Given the description of an element on the screen output the (x, y) to click on. 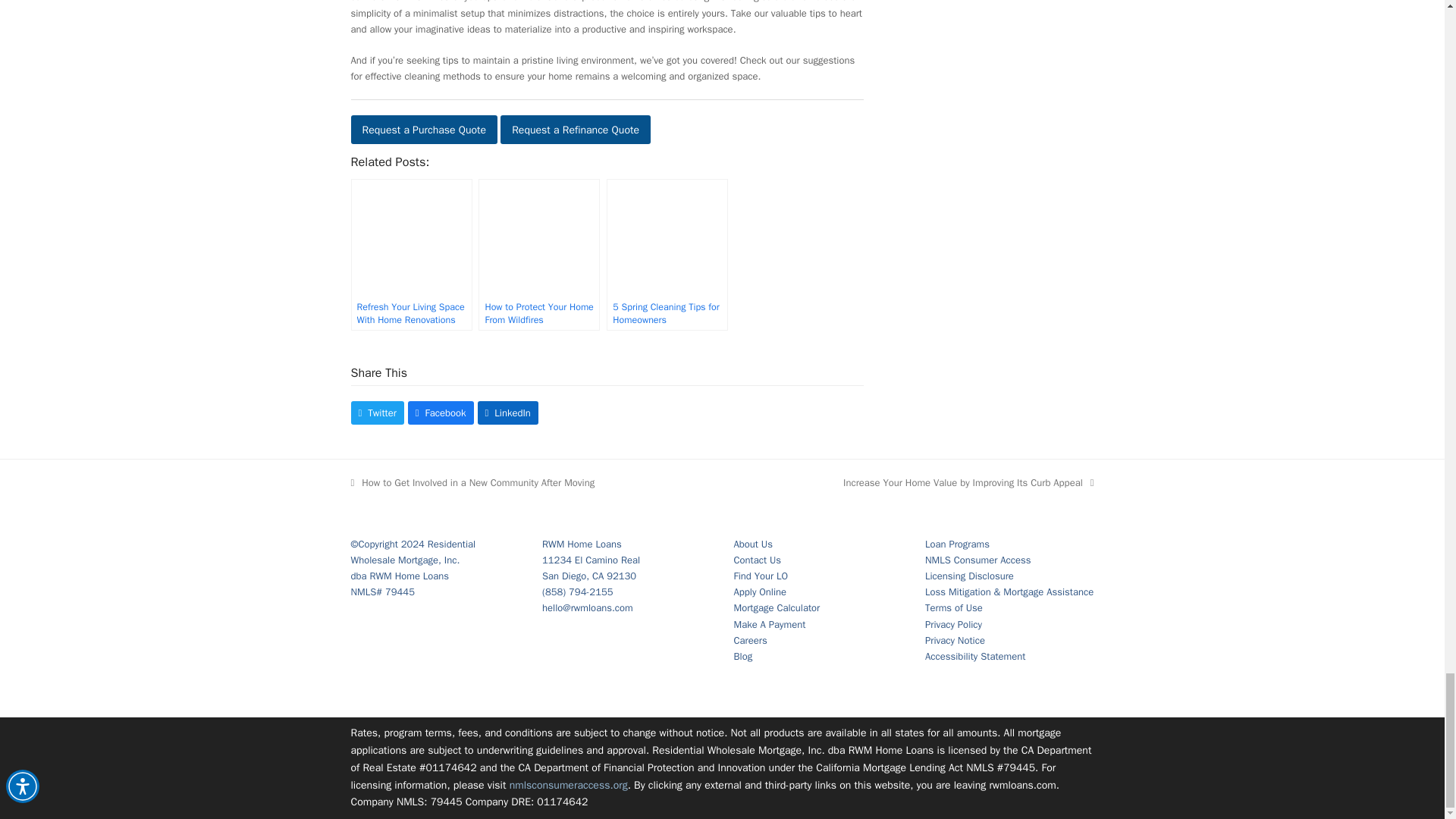
Find Your LO (761, 575)
Request a Refinance Quote (575, 129)
Request a Purchase Quote (423, 129)
NMLS Consumer Access (977, 559)
Facebook (440, 413)
LinkedIn (507, 413)
Contact Us (757, 559)
About Us (753, 543)
Twitter (376, 413)
